Given the description of an element on the screen output the (x, y) to click on. 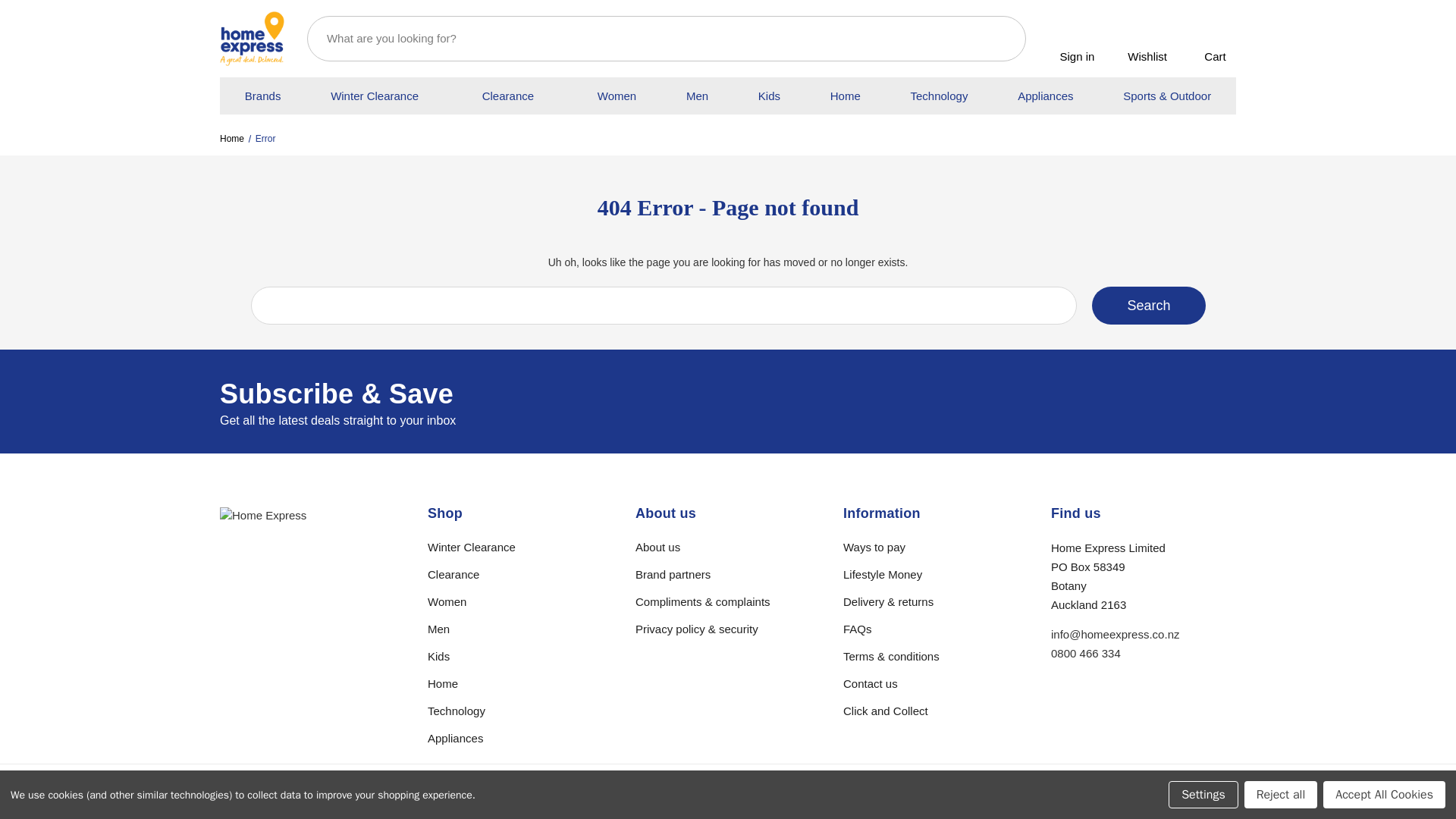
Clearance (508, 95)
Home Express (251, 38)
Men (697, 95)
Women (616, 95)
Brands (262, 95)
Winter Clearance (374, 95)
